Given the description of an element on the screen output the (x, y) to click on. 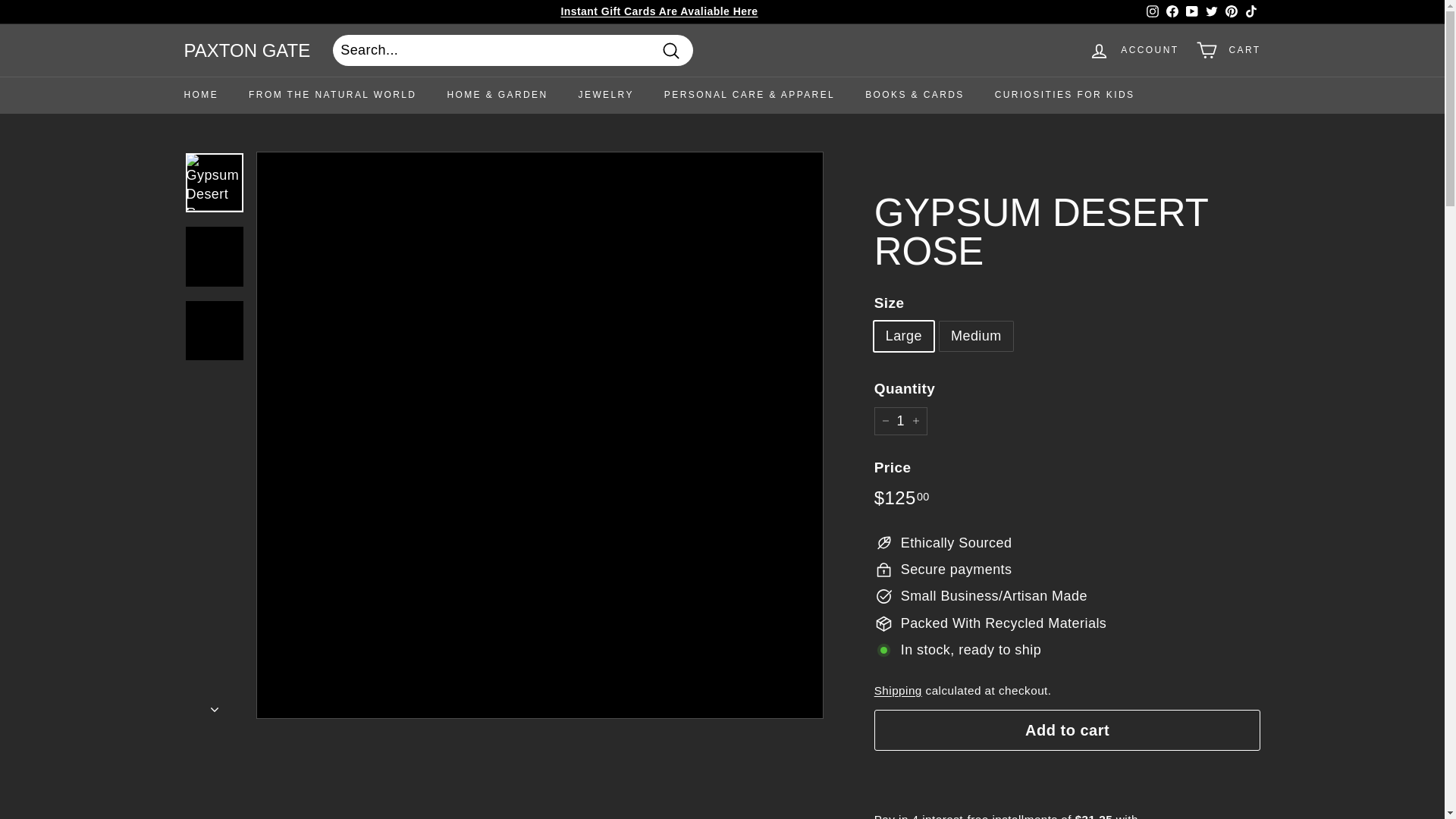
Instant Gift Cards Are Avaliable Here (658, 10)
JEWELRY (606, 94)
HOME (200, 94)
FROM THE NATURAL WORLD (331, 94)
Paxton Gate Gift Cards (658, 10)
ACCOUNT (1134, 49)
PAXTON GATE (246, 49)
1 (901, 420)
